Given the description of an element on the screen output the (x, y) to click on. 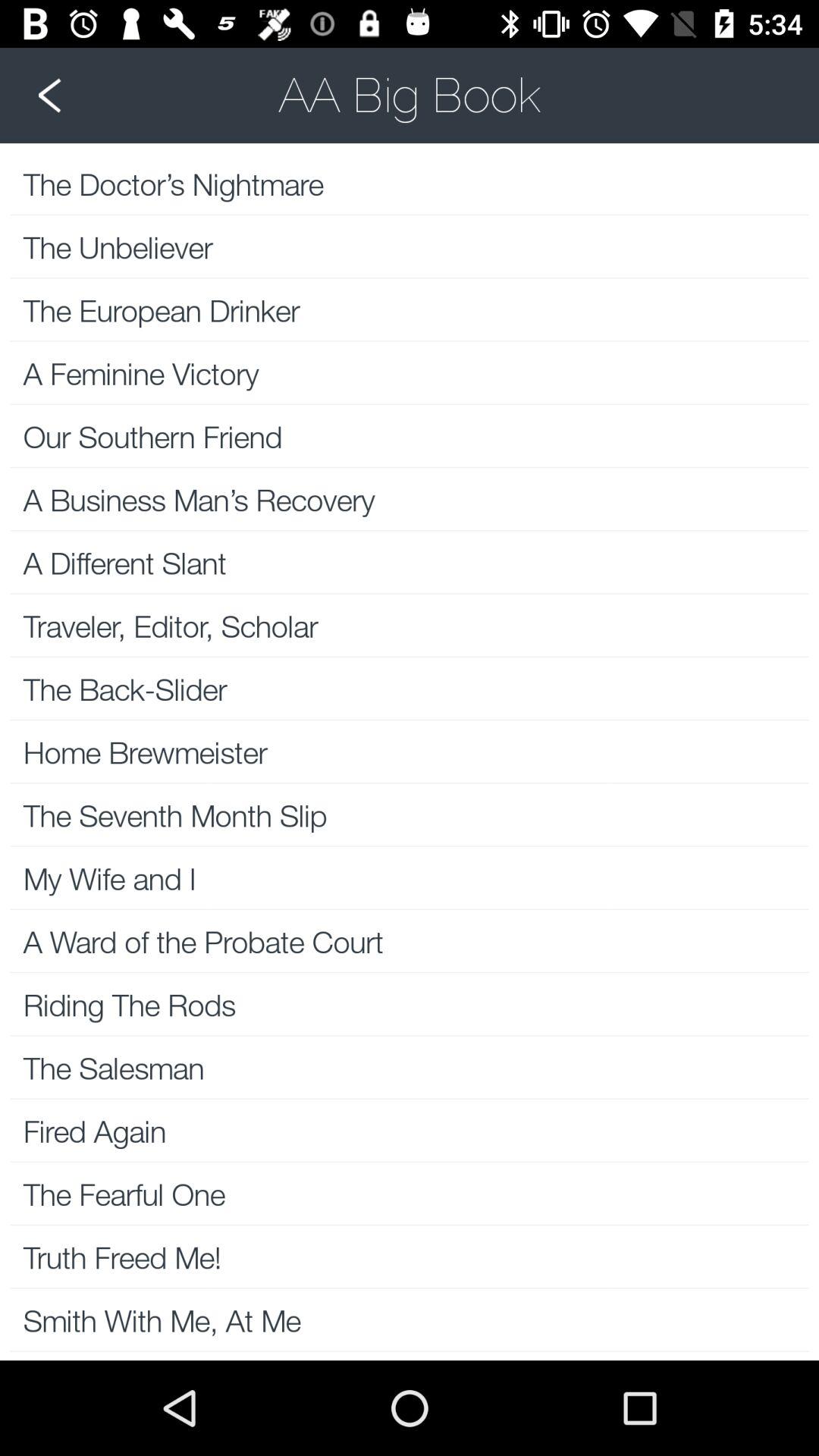
go back (409, 95)
